Given the description of an element on the screen output the (x, y) to click on. 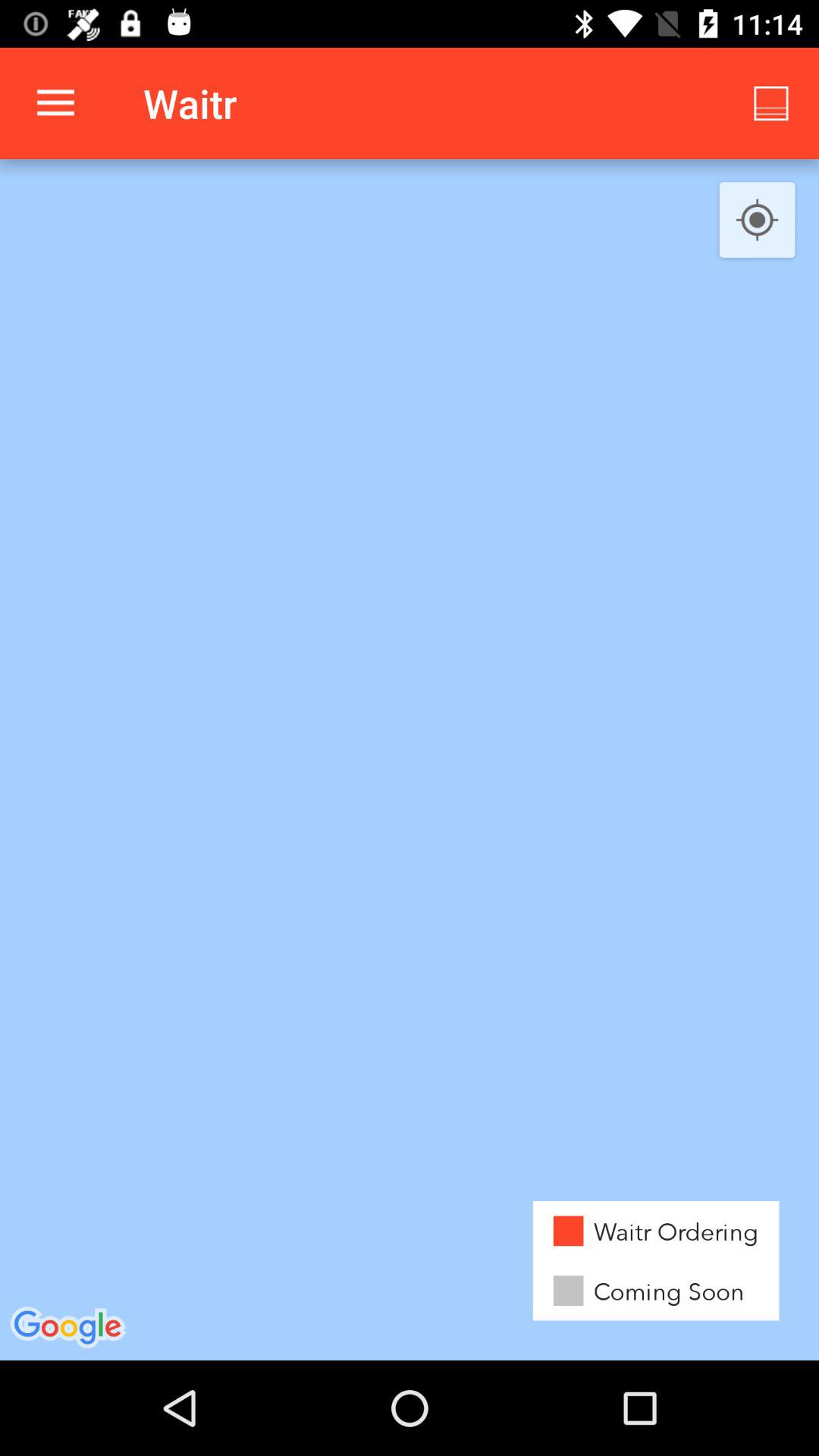
tap the item at the center (409, 759)
